Given the description of an element on the screen output the (x, y) to click on. 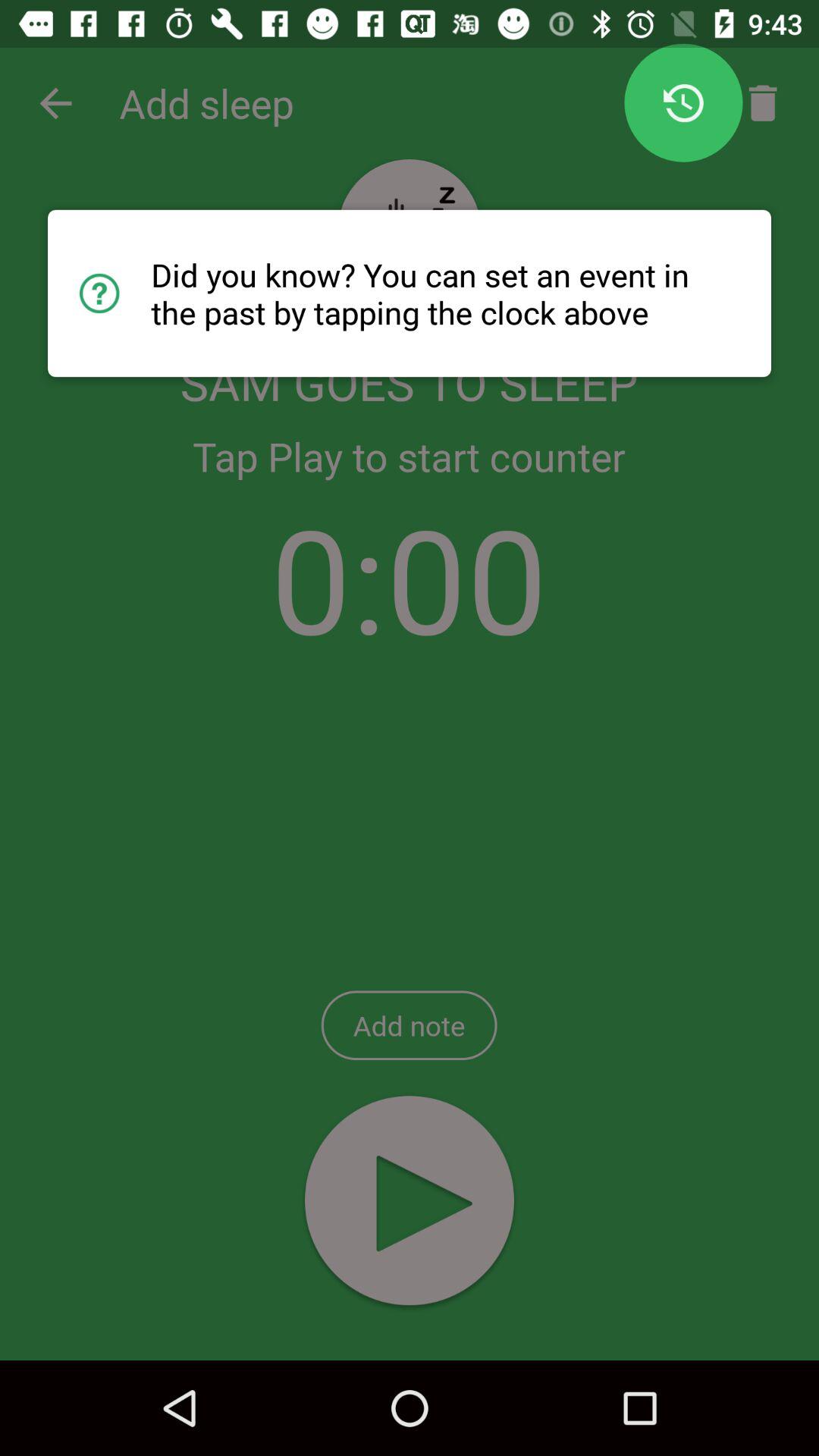
select add note item (409, 1025)
